Given the description of an element on the screen output the (x, y) to click on. 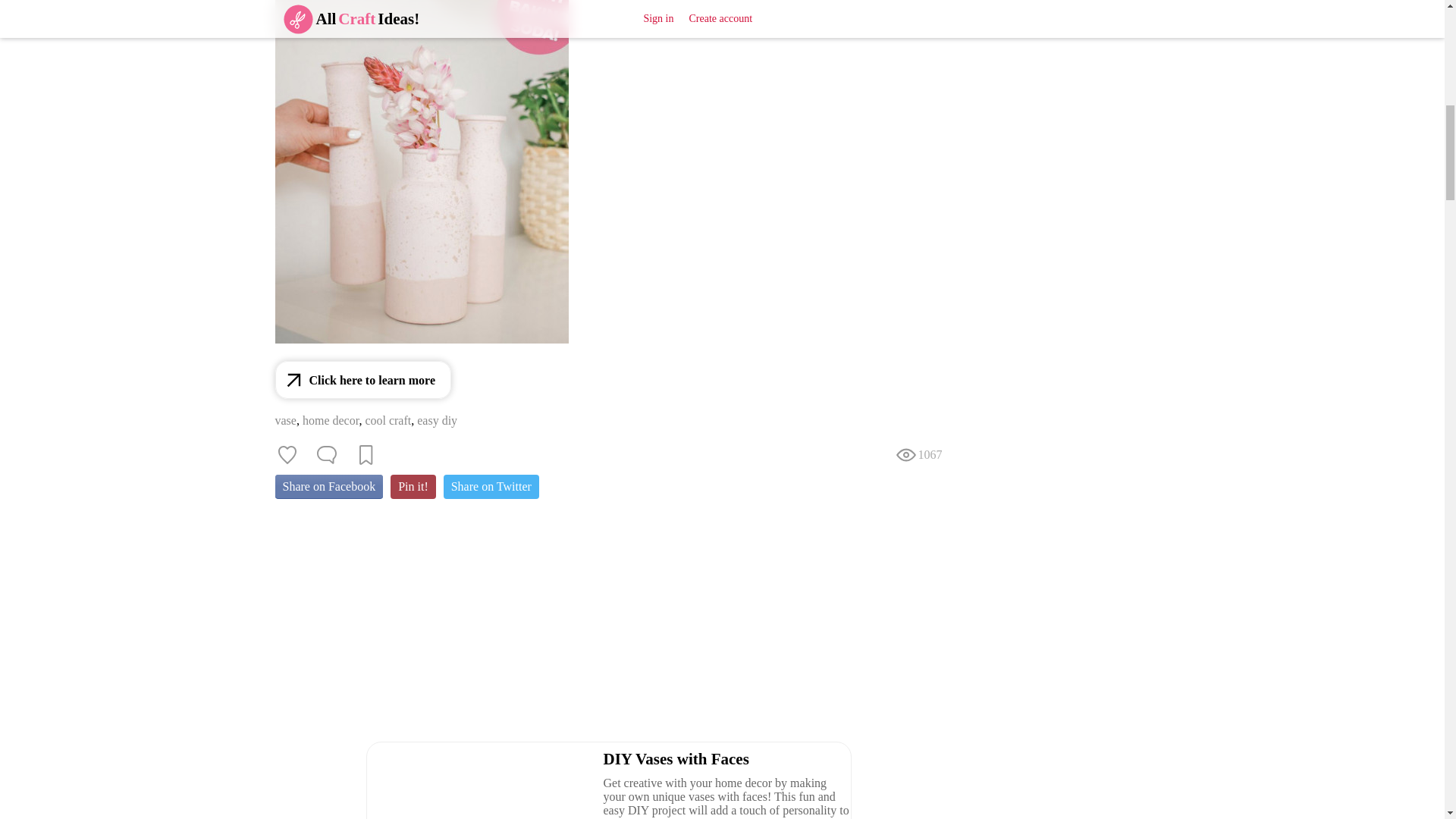
easy diy (436, 420)
home decor (330, 420)
Share on Facebook (328, 486)
cool craft (387, 420)
Comments (325, 454)
Pin it! (412, 486)
Views (917, 454)
Share on Twitter (491, 486)
Click here to learn more (362, 379)
vase (285, 420)
